Given the description of an element on the screen output the (x, y) to click on. 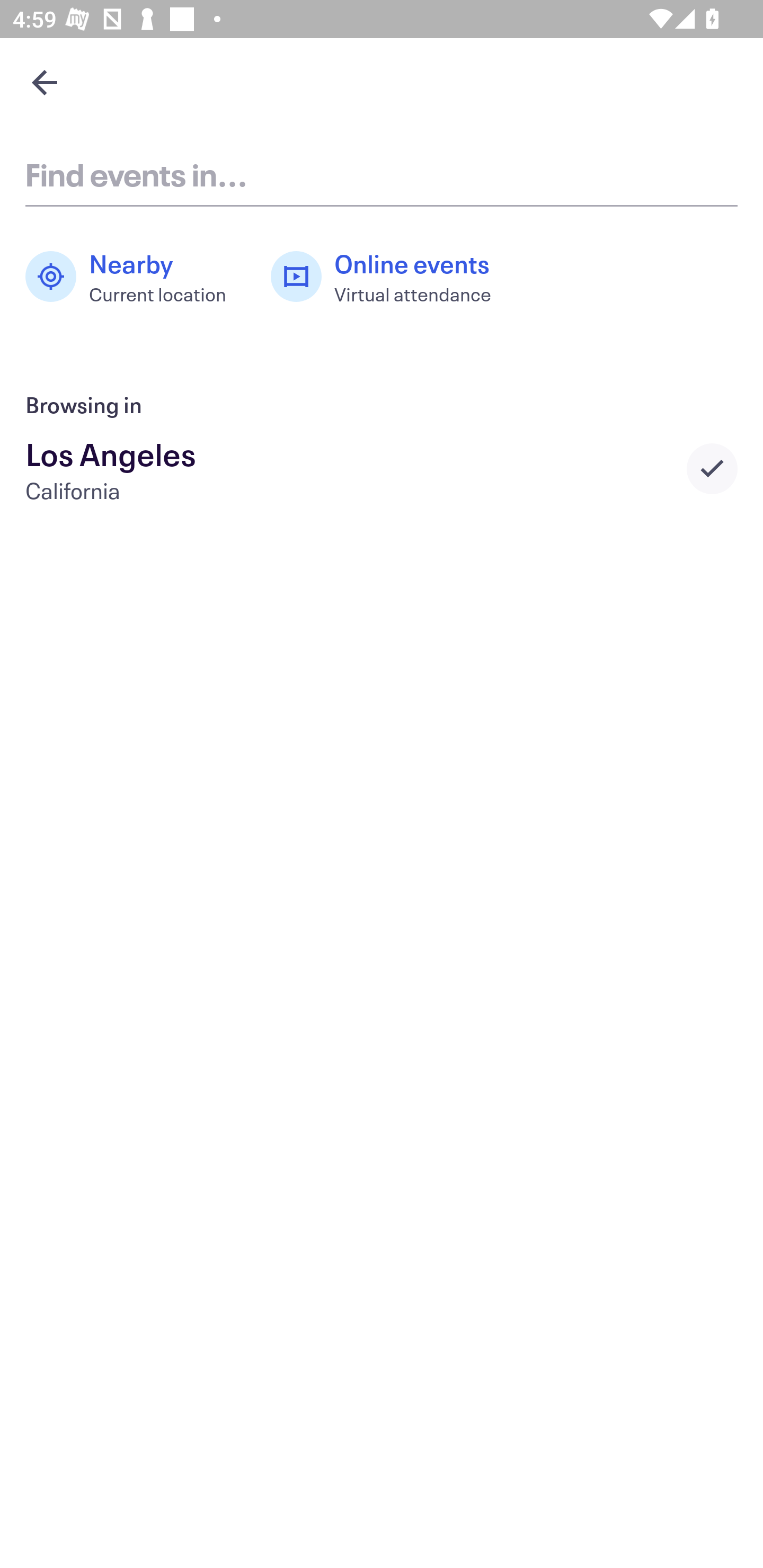
Navigate up (44, 82)
Find events in... (381, 173)
Nearby Current location (135, 276)
Online events Virtual attendance (390, 276)
Los Angeles California Selected city (381, 468)
